Given the description of an element on the screen output the (x, y) to click on. 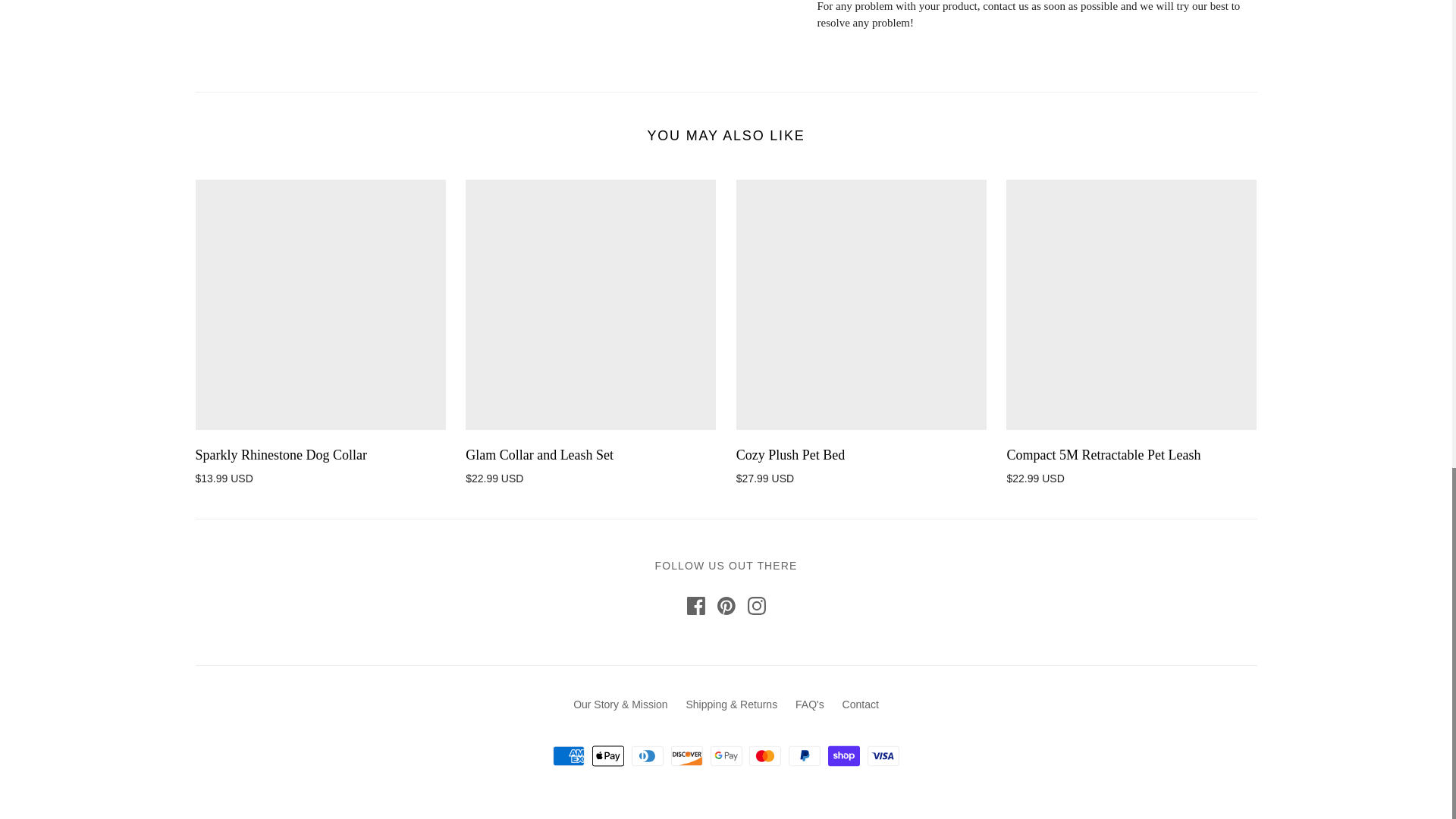
Google Pay (725, 755)
PayPal (805, 755)
Shop Pay (844, 755)
Visa (883, 755)
Pinterest Icon (726, 606)
American Express (569, 755)
Facebook Icon (695, 606)
Instagram Icon (756, 606)
Diners Club (647, 755)
Mastercard (764, 755)
Discover (687, 755)
Apple Pay (608, 755)
